Given the description of an element on the screen output the (x, y) to click on. 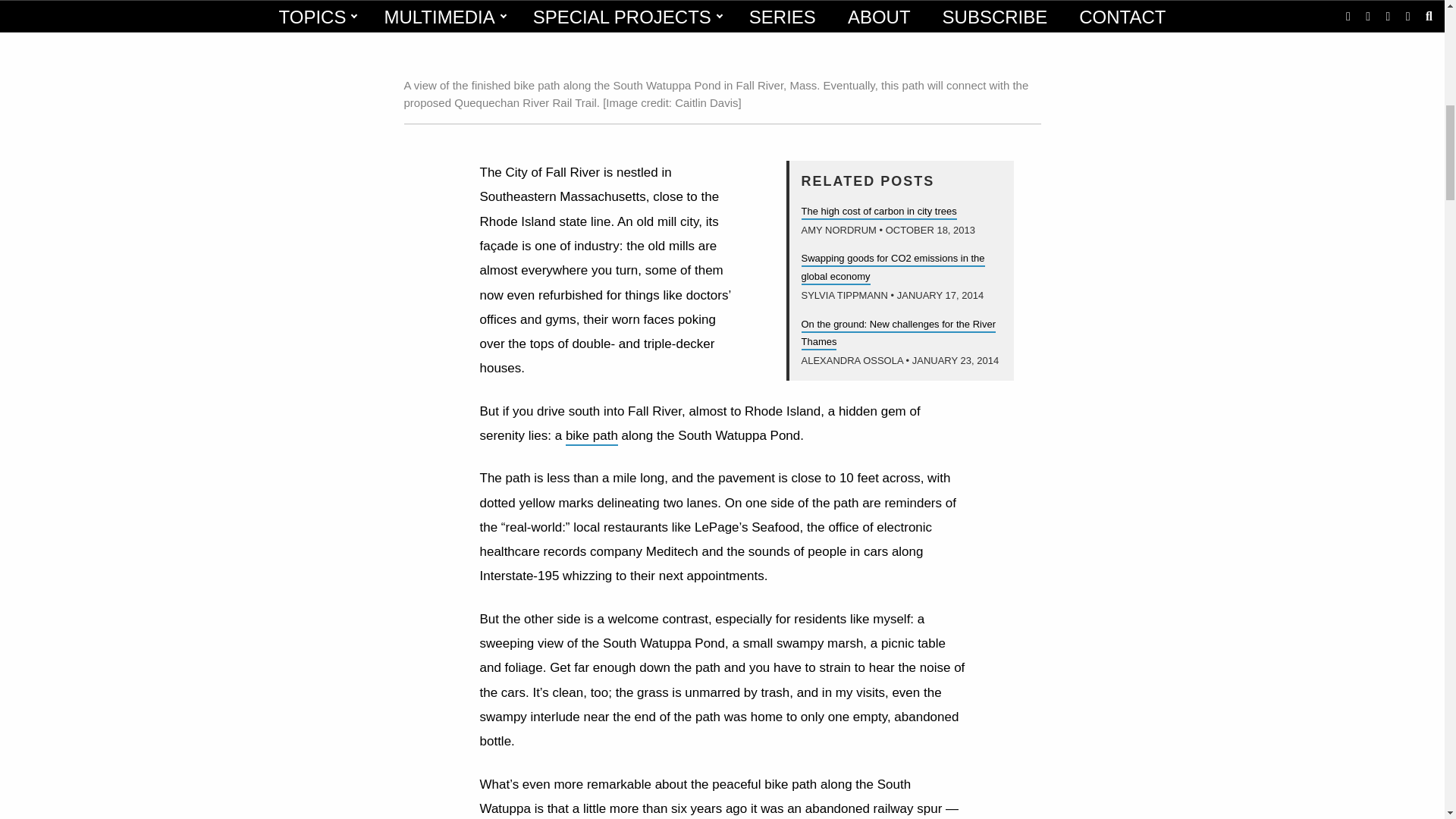
Posts by Sylvia Tippmann (843, 295)
Posts by Amy Nordrum (838, 229)
Posts by Alexandra Ossola (851, 360)
The high cost of carbon in city trees (878, 212)
AMY NORDRUM (838, 229)
